Given the description of an element on the screen output the (x, y) to click on. 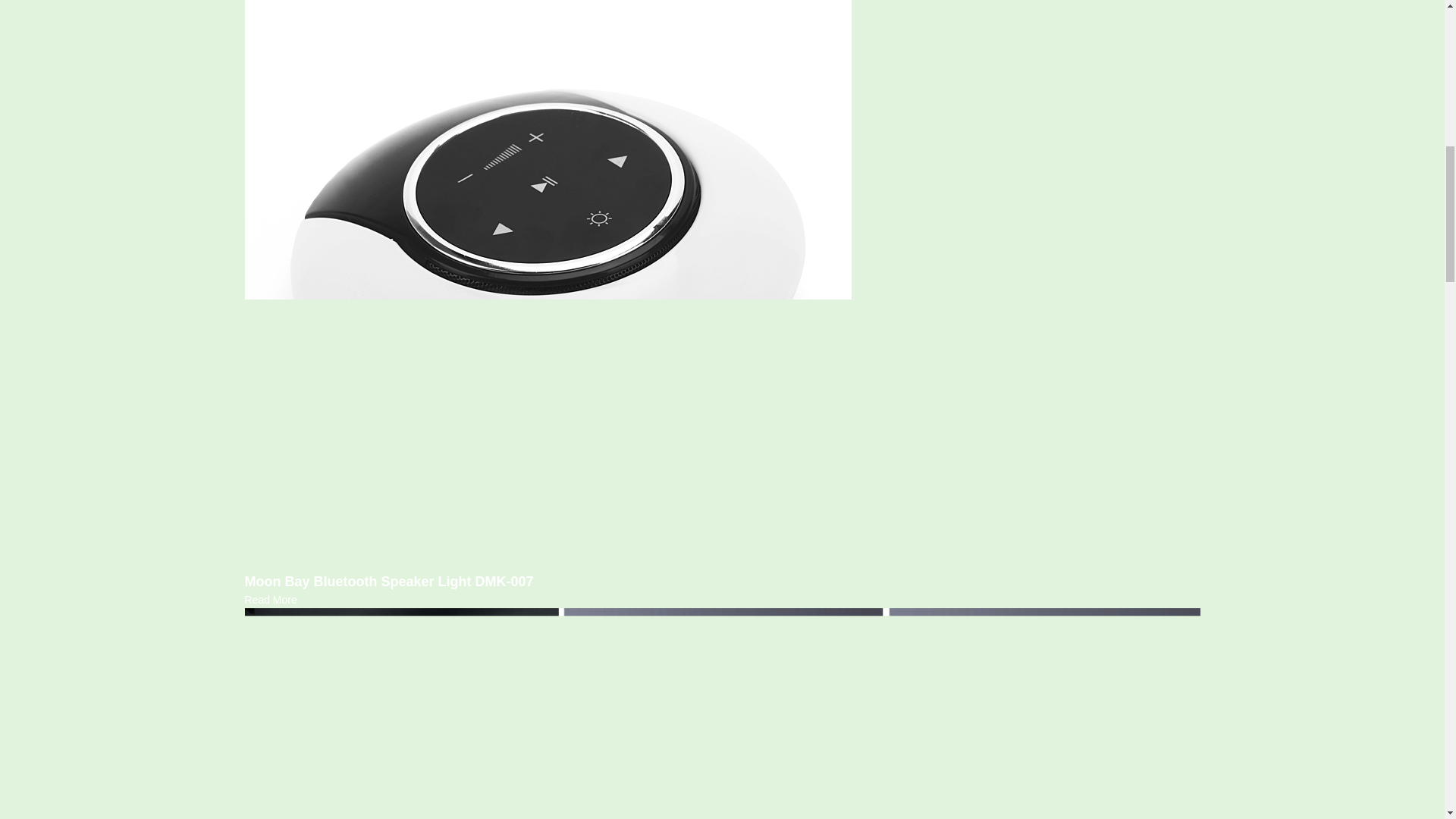
Moon Bay Bluetooth Speaker Light DMK-007 (388, 581)
Moon Bay Bluetooth Speaker Light DMK-007 (388, 581)
Moon Bay Bluetooth Speaker Light DMK-007 (270, 599)
Read More (270, 599)
Moon Bay Bluetooth Speaker Light DMK-007 (547, 256)
